Given the description of an element on the screen output the (x, y) to click on. 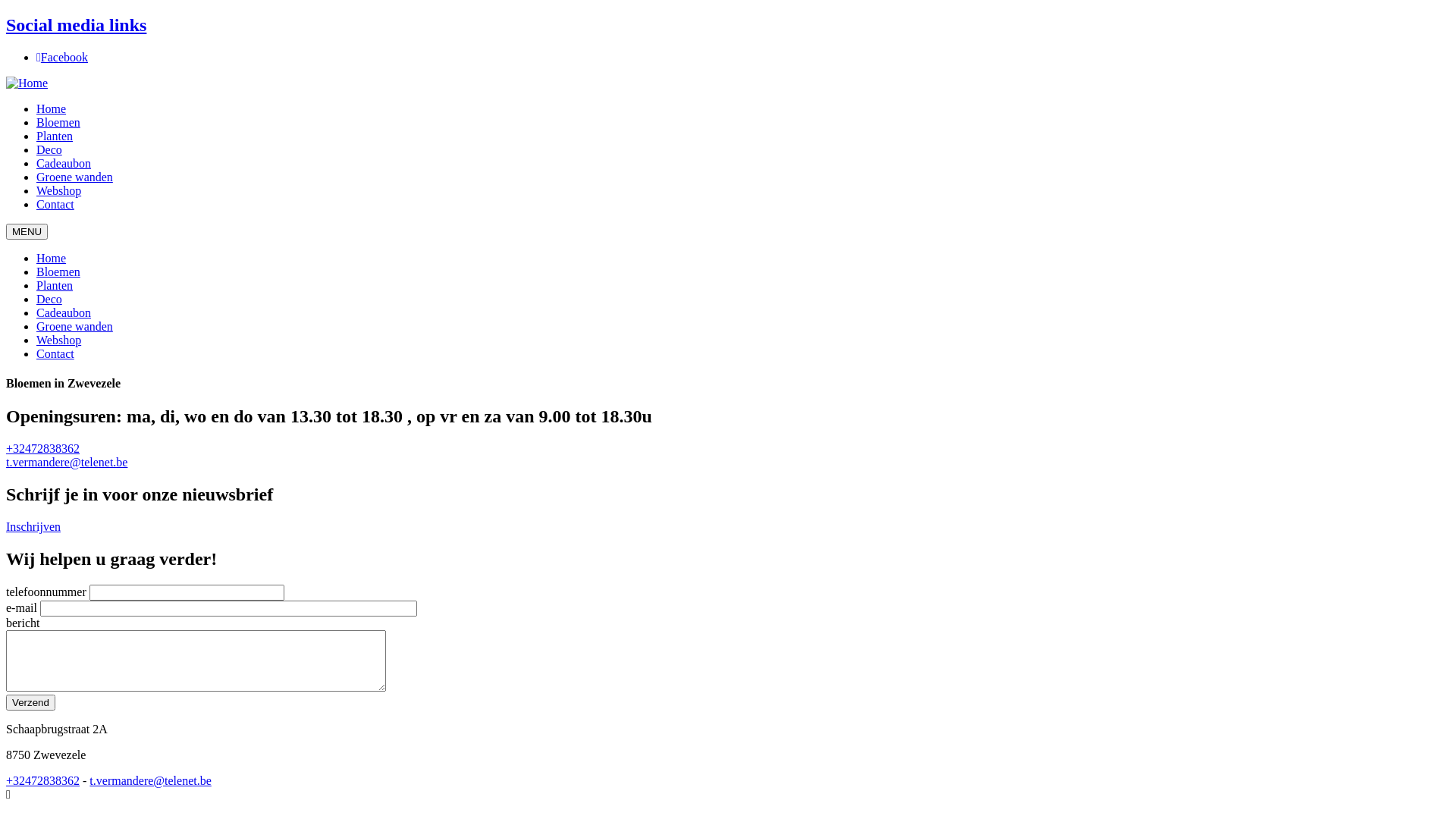
Contact Element type: text (55, 203)
Home Element type: text (50, 257)
Home Element type: text (50, 108)
Planten Element type: text (54, 135)
Cadeaubon Element type: text (63, 312)
Groene wanden Element type: text (74, 326)
+32472838362 Element type: text (42, 780)
t.vermandere@telenet.be Element type: text (149, 780)
Cadeaubon Element type: text (63, 162)
Deco Element type: text (49, 149)
Facebook Element type: text (61, 56)
Deco Element type: text (49, 298)
MENU Element type: text (26, 231)
Home Element type: hover (26, 82)
Bloemen Element type: text (58, 271)
Contact Element type: text (55, 353)
Planten Element type: text (54, 285)
Overslaan en naar de inhoud gaan Element type: text (6, 15)
+32472838362 Element type: text (42, 448)
Verzend Element type: text (30, 702)
Inschrijven Element type: text (33, 526)
Groene wanden Element type: text (74, 176)
t.vermandere@telenet.be Element type: text (66, 461)
Webshop Element type: text (58, 339)
Bloemen Element type: text (58, 122)
Webshop Element type: text (58, 190)
Social media links Element type: text (76, 24)
